Given the description of an element on the screen output the (x, y) to click on. 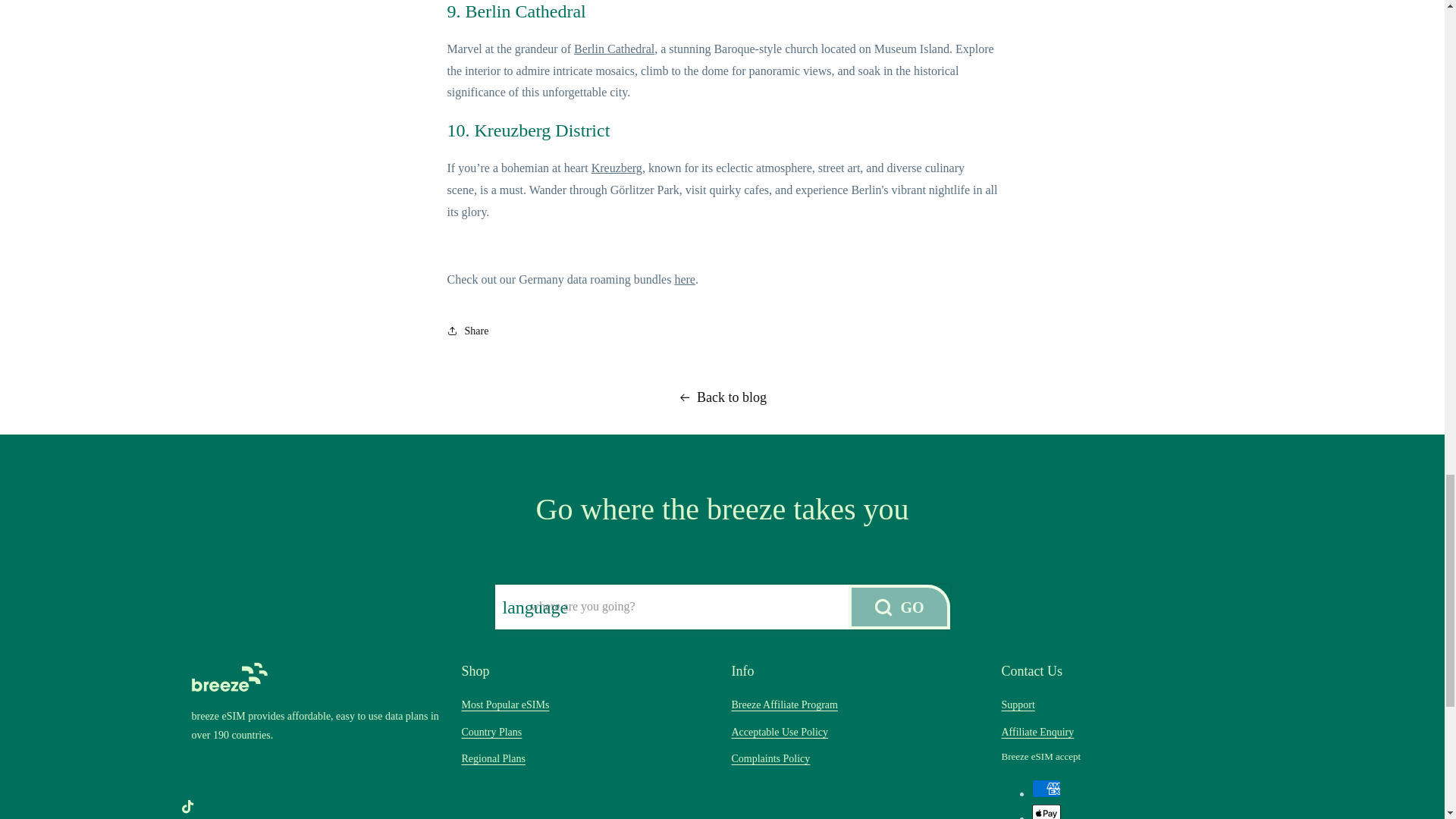
Berlin Cathedral (613, 48)
American Express (1044, 788)
Apple Pay (1044, 811)
